Given the description of an element on the screen output the (x, y) to click on. 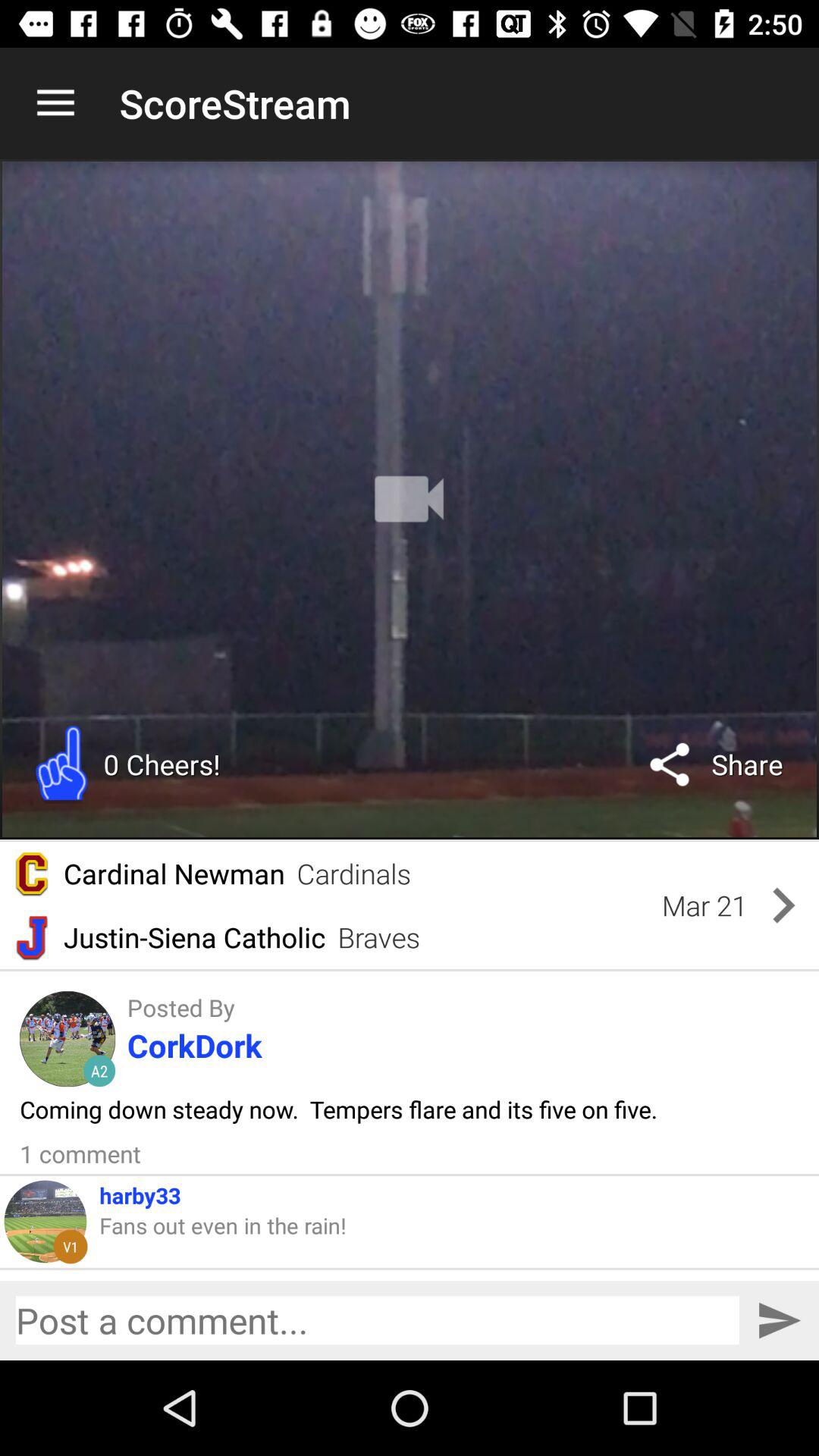
tap the item above justin-siena catholic item (353, 873)
